Given the description of an element on the screen output the (x, y) to click on. 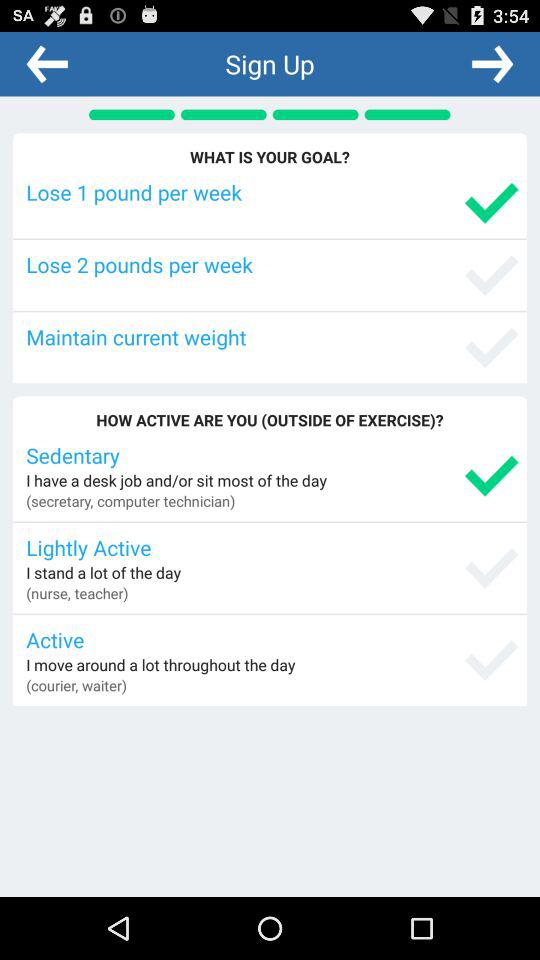
go back to prior step (47, 63)
